Given the description of an element on the screen output the (x, y) to click on. 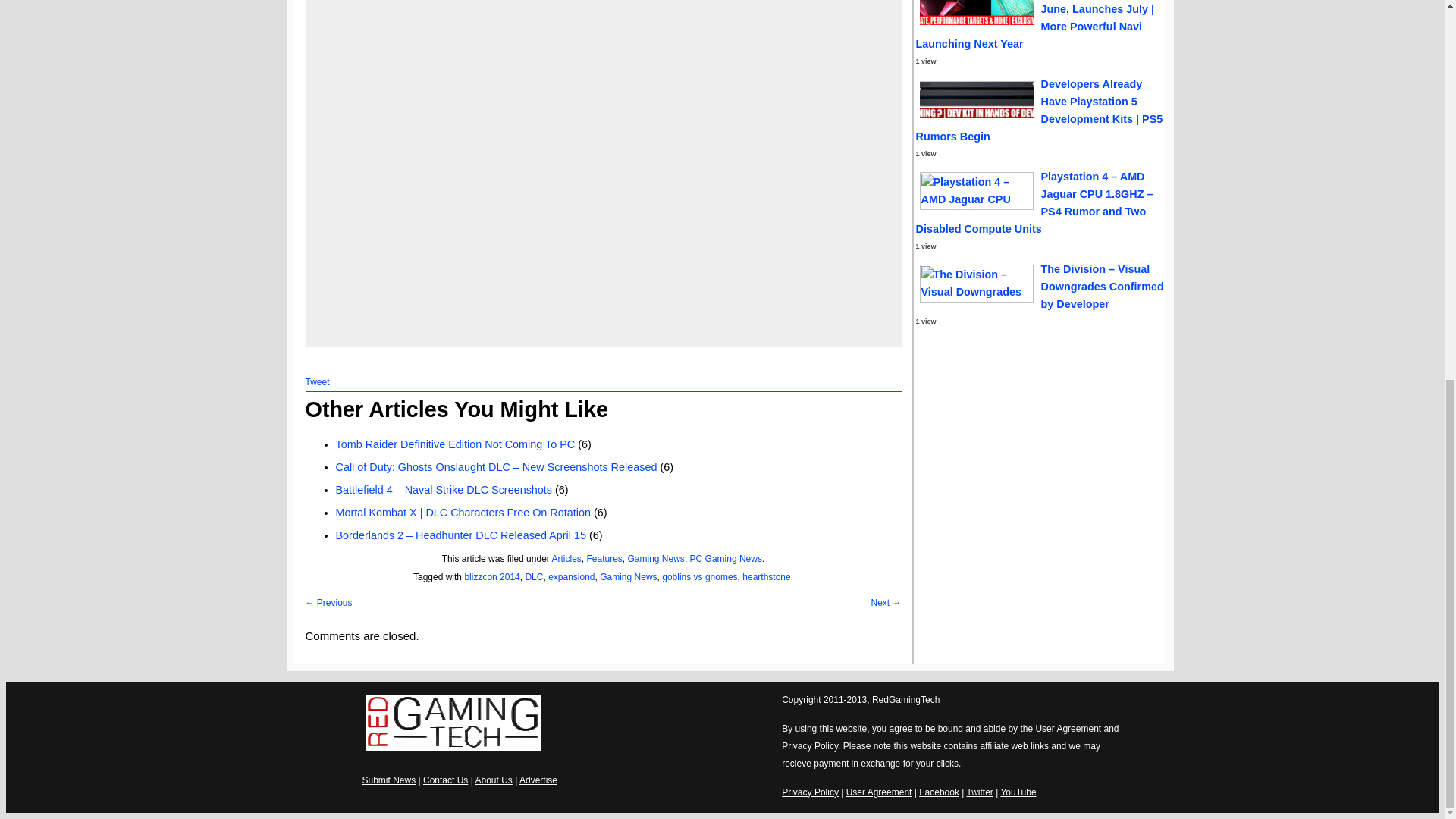
Features (603, 558)
Articles (565, 558)
Gaming News (655, 558)
Tweet (316, 381)
DLC (533, 576)
Tomb Raider Definitive Edition Not Coming To PC (454, 444)
blizzcon 2014 (491, 576)
Tomb Raider Definitive Edition Not Coming To PC (454, 444)
PC Gaming News (725, 558)
